Given the description of an element on the screen output the (x, y) to click on. 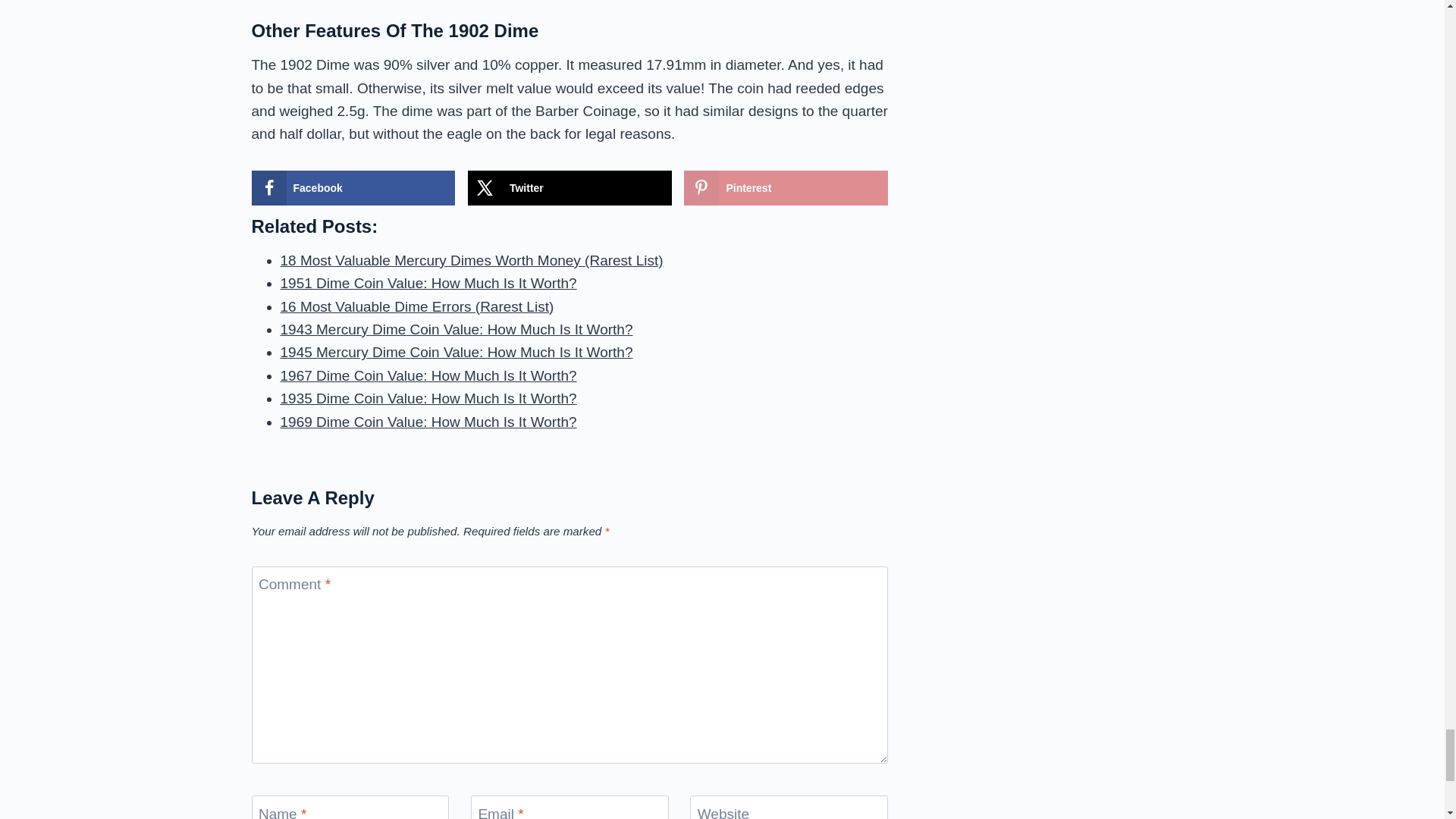
1943 Mercury Dime Coin Value: How Much Is It Worth? (457, 329)
1945 Mercury Dime Coin Value: How Much Is It Worth? (457, 351)
1951 Dime Coin Value: How Much Is It Worth? (428, 283)
Share on Facebook (353, 187)
Share on X (569, 187)
1951 Dime Coin Value: How Much Is It Worth? (428, 283)
Pinterest (786, 187)
1969 Dime Coin Value: How Much Is It Worth? (428, 421)
Save to Pinterest (786, 187)
1943 Mercury Dime Coin Value: How Much Is It Worth? (457, 329)
1967 Dime Coin Value: How Much Is It Worth? (428, 375)
Twitter (569, 187)
1935 Dime Coin Value: How Much Is It Worth? (428, 398)
Facebook (353, 187)
1945 Mercury Dime Coin Value: How Much Is It Worth? (457, 351)
